Given the description of an element on the screen output the (x, y) to click on. 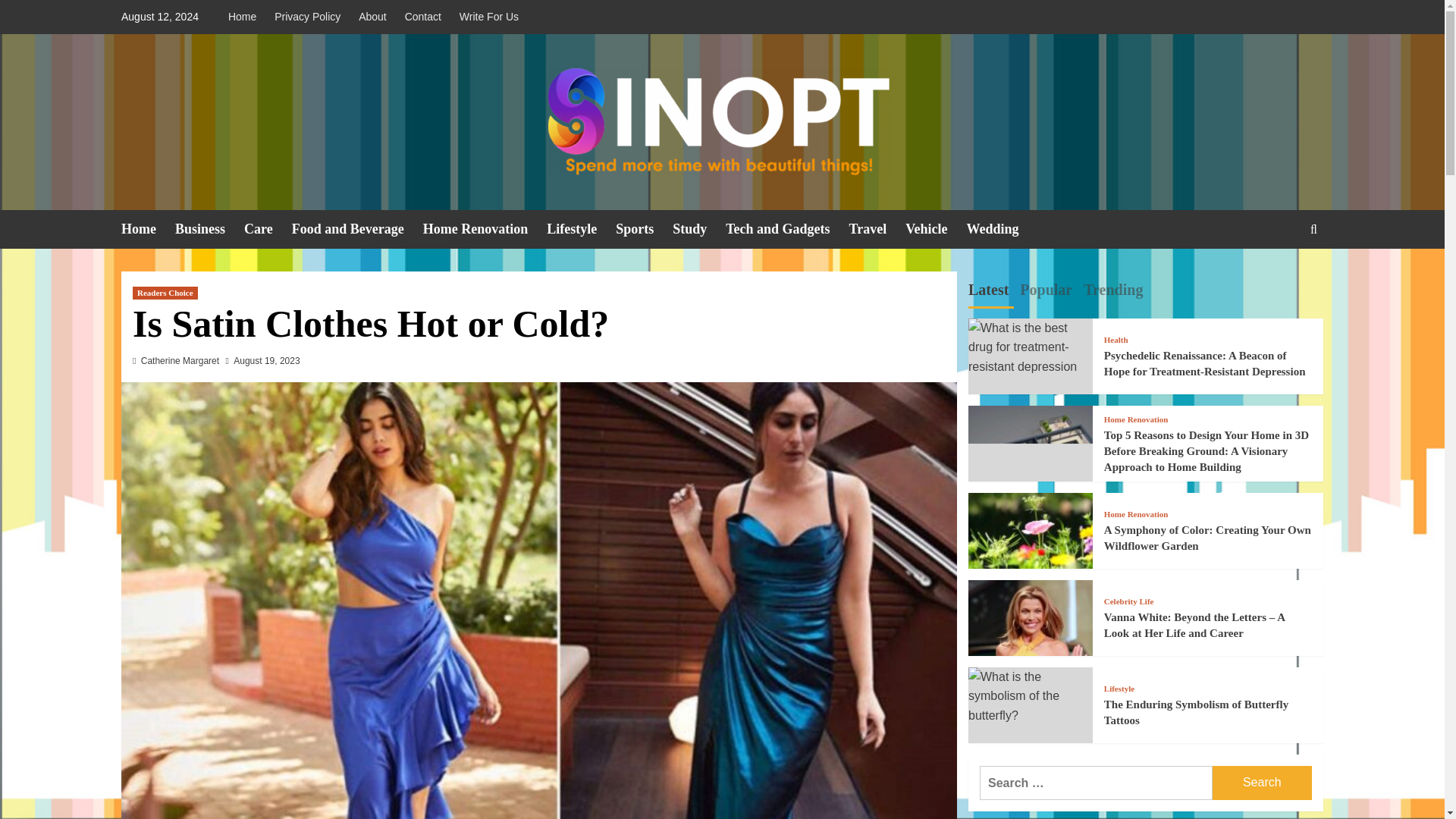
Wedding (1002, 228)
Tech and Gadgets (786, 228)
Travel (876, 228)
Privacy Policy (306, 17)
Readers Choice (165, 292)
Search (1278, 276)
Search (1261, 782)
Care (268, 228)
About (372, 17)
Home Renovation (485, 228)
